Given the description of an element on the screen output the (x, y) to click on. 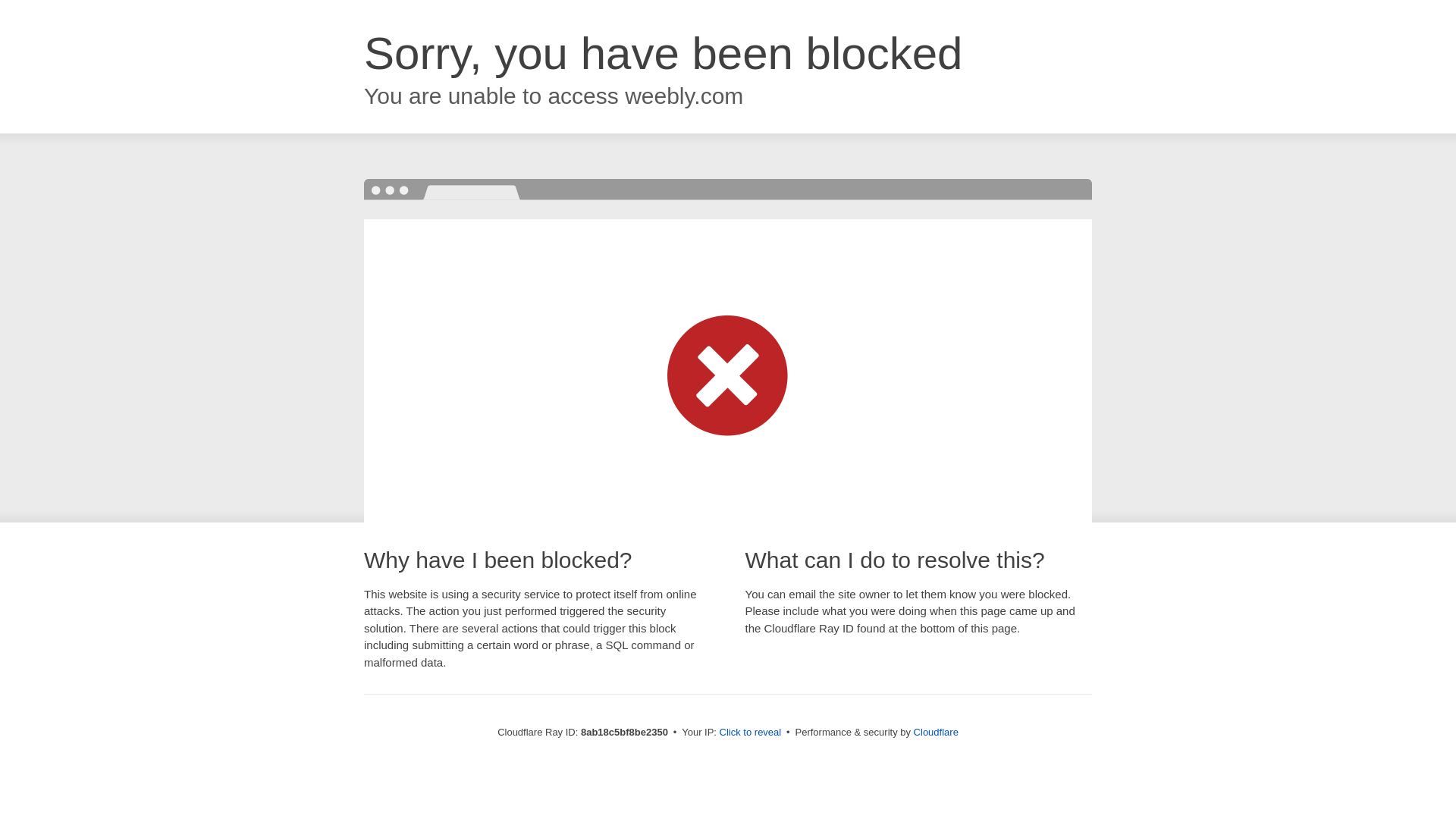
Cloudflare (936, 731)
Click to reveal (750, 732)
